Given the description of an element on the screen output the (x, y) to click on. 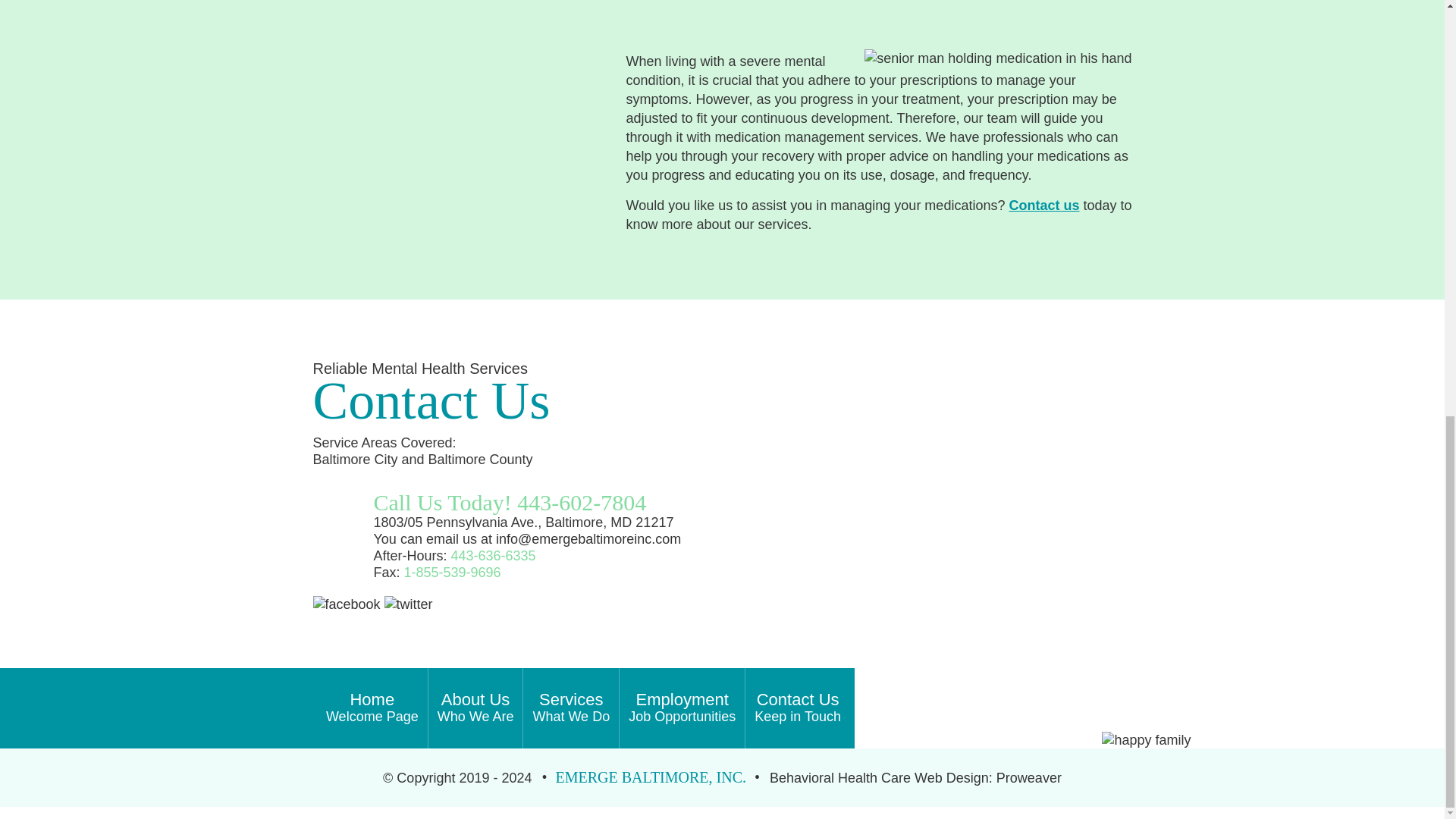
Contact us (681, 708)
Behavioral Health Care Web Design (475, 708)
Proweaver (1043, 205)
